Given the description of an element on the screen output the (x, y) to click on. 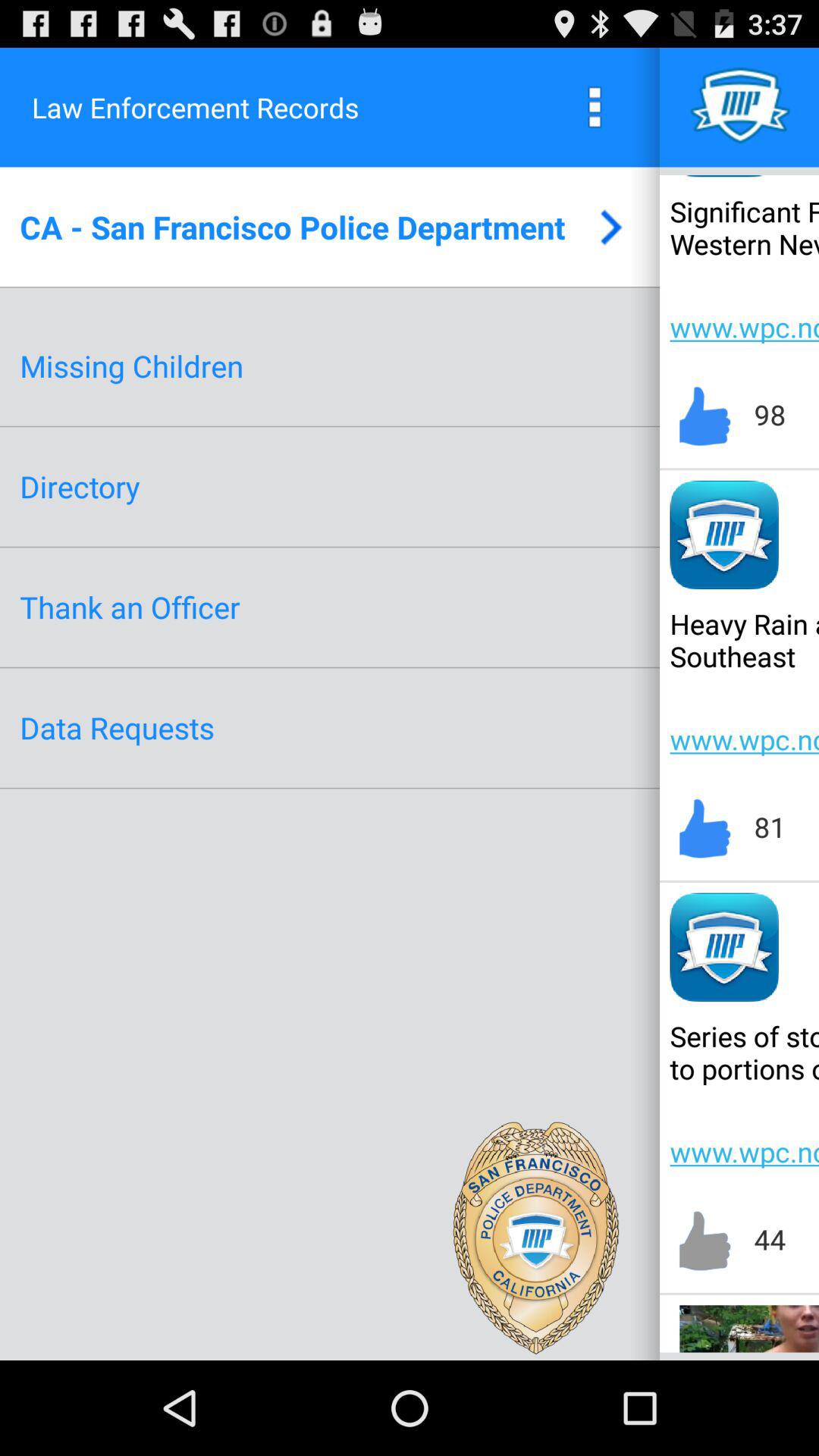
jump to thank an officer icon (129, 606)
